Given the description of an element on the screen output the (x, y) to click on. 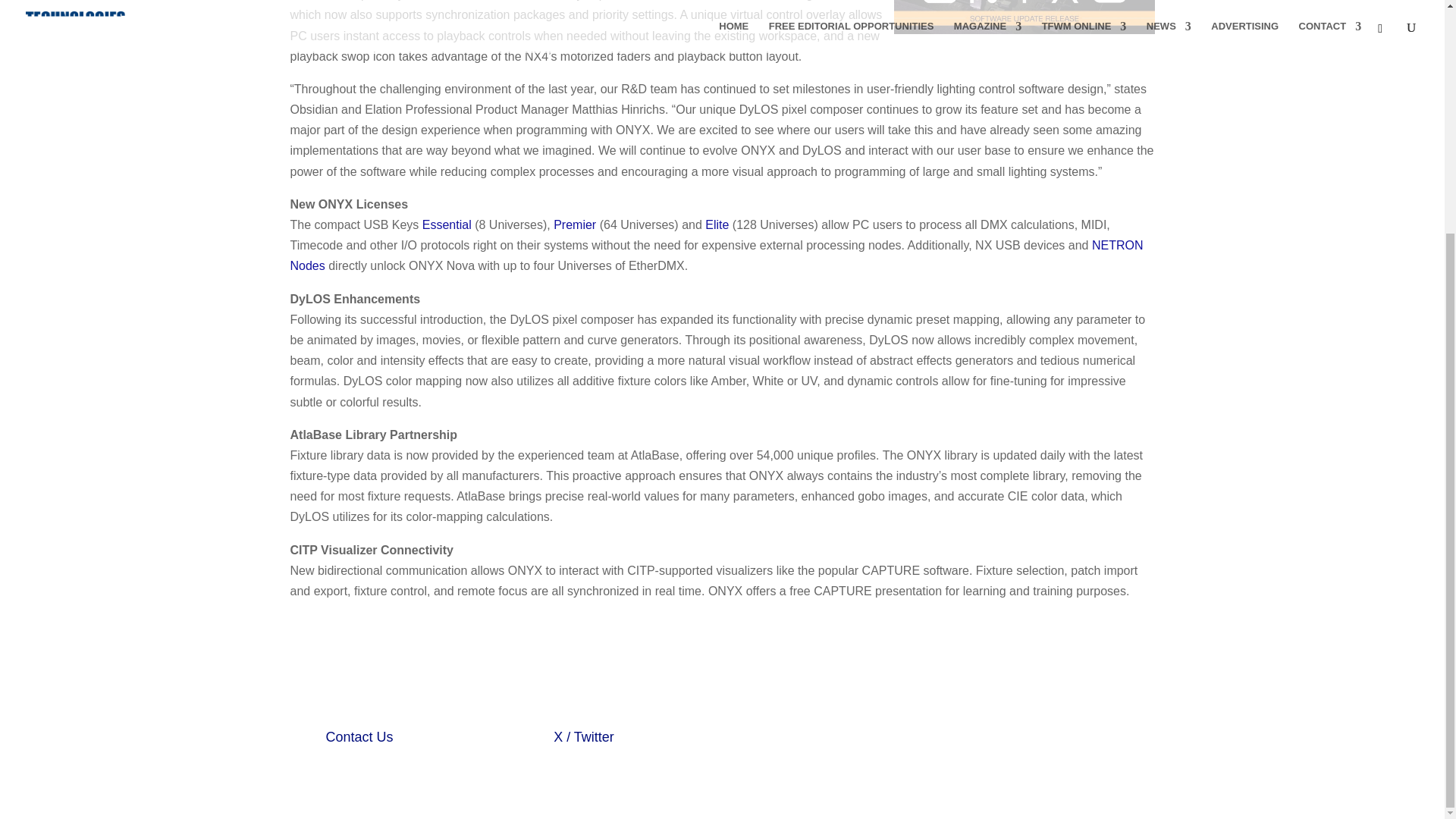
Premier (574, 224)
Essential (446, 224)
Contact Us (359, 736)
NETRON Nodes (715, 255)
Elite (716, 224)
